Given the description of an element on the screen output the (x, y) to click on. 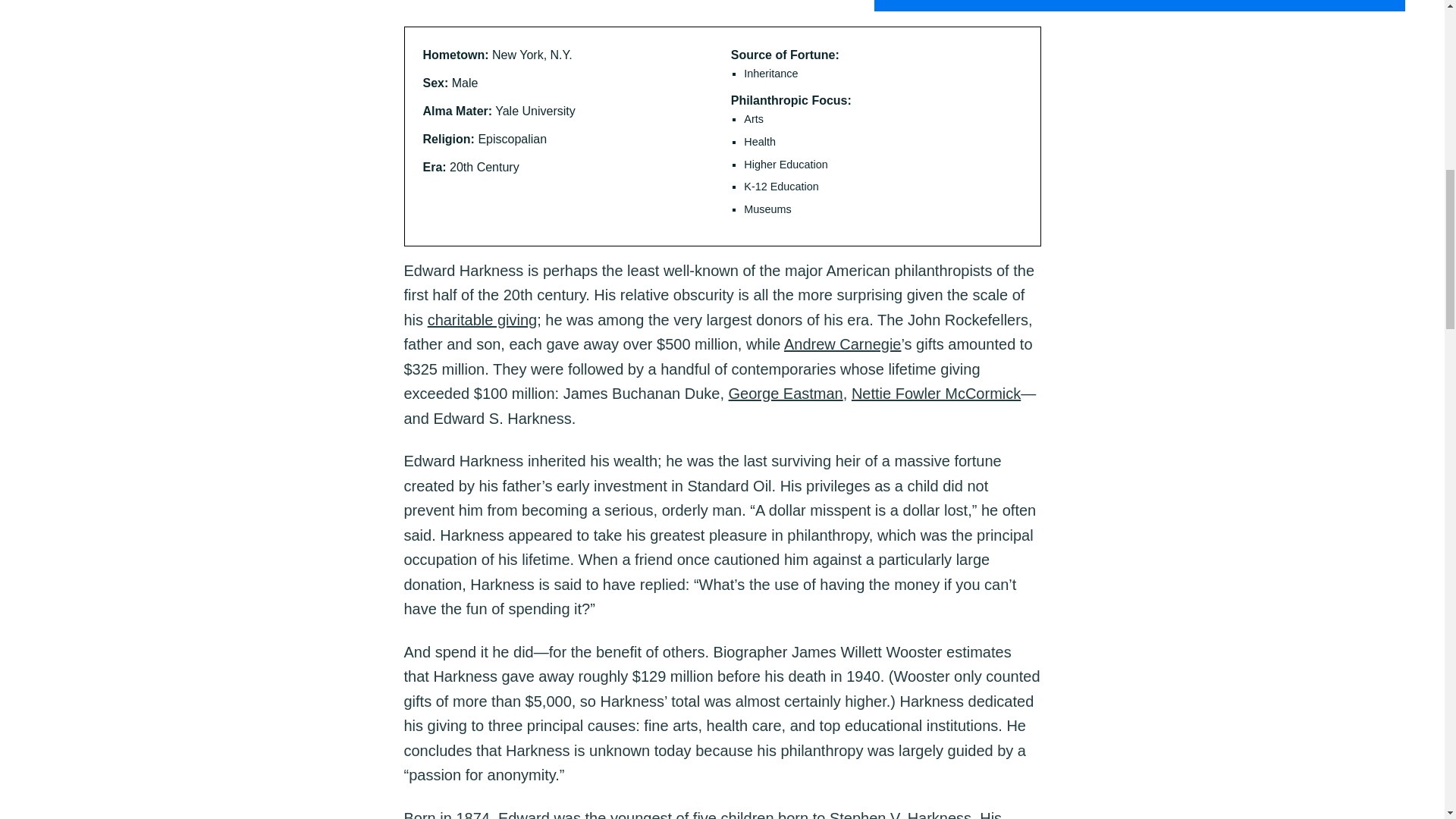
charitable giving (482, 320)
Andrew Carnegie (842, 343)
